Given the description of an element on the screen output the (x, y) to click on. 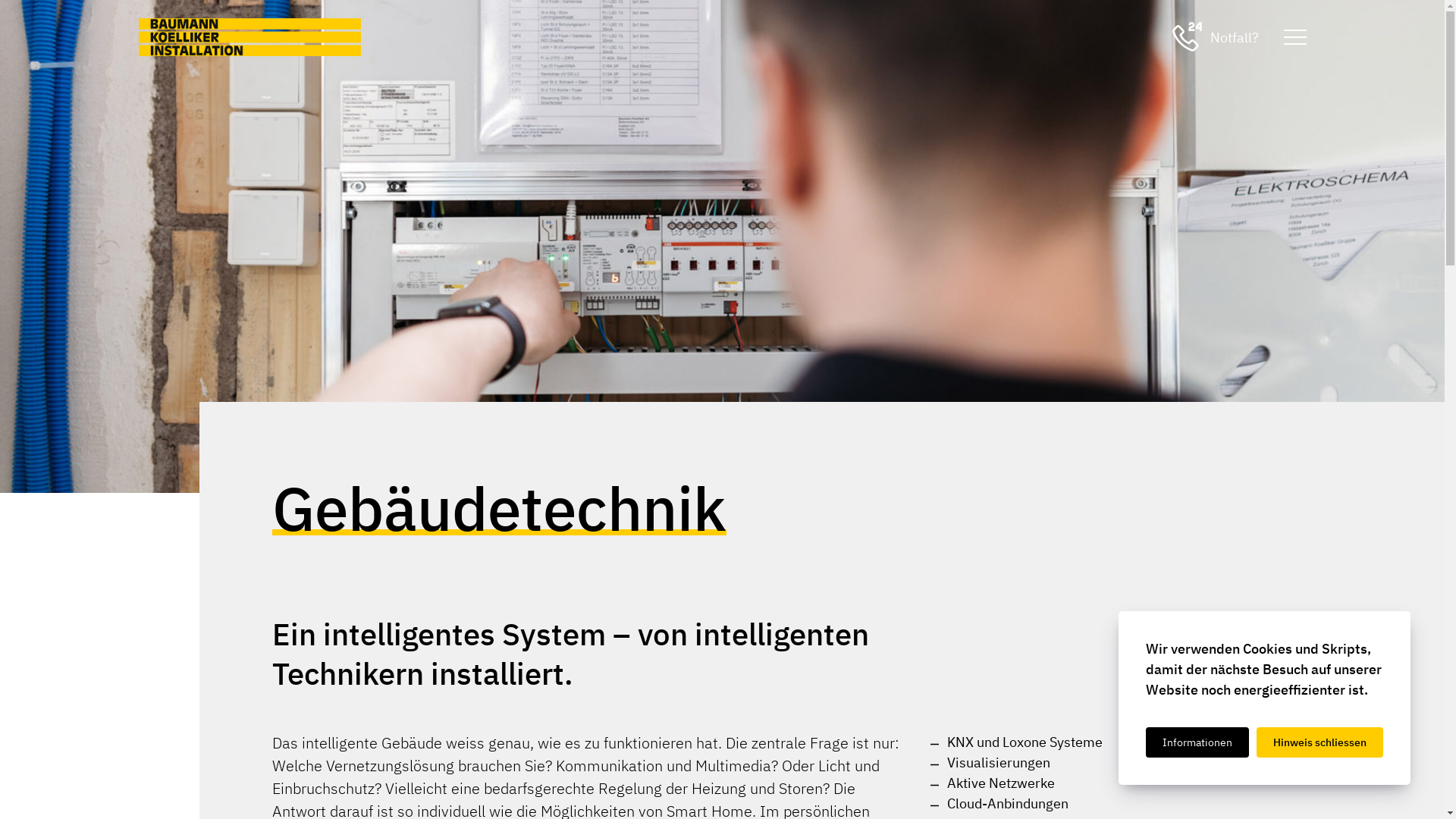
Notfall? Element type: text (1215, 36)
Toggle Menu Element type: text (1295, 36)
Hinweis schliessen Element type: text (1319, 742)
Informationen Element type: text (1196, 742)
